Given the description of an element on the screen output the (x, y) to click on. 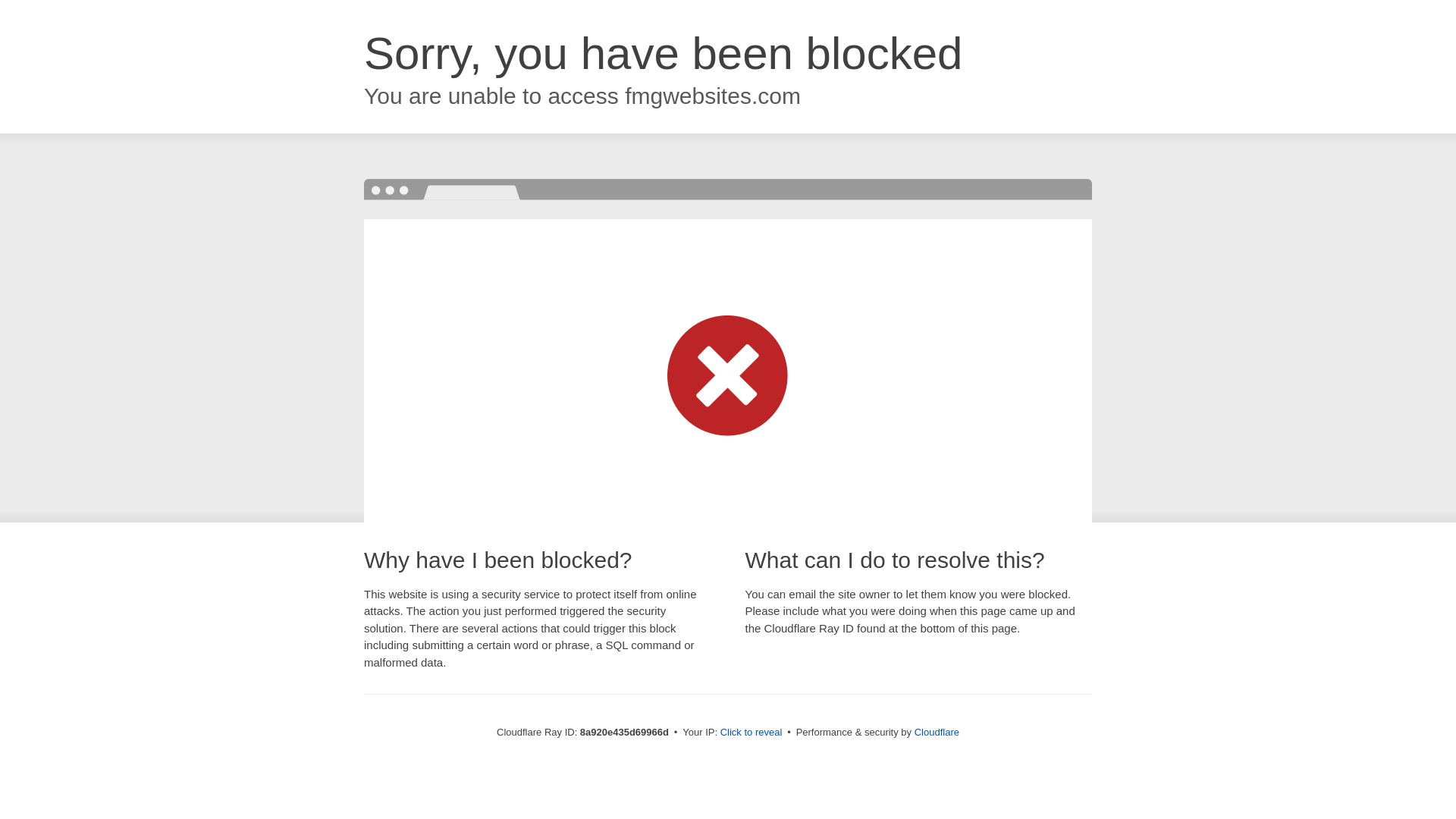
Click to reveal (751, 732)
Cloudflare (936, 731)
